Given the description of an element on the screen output the (x, y) to click on. 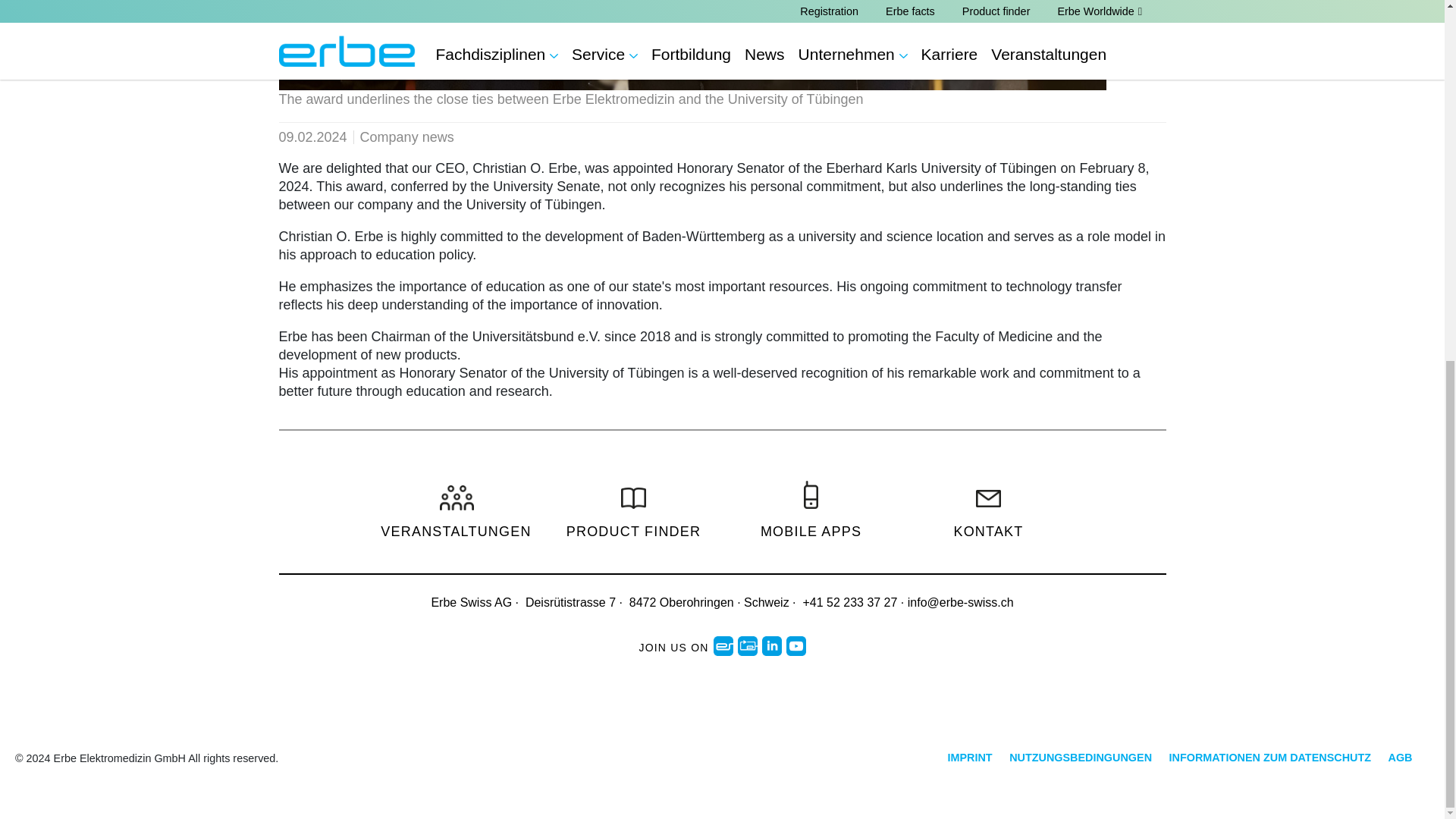
Opens internal link in current window (633, 508)
Opens internal link in current window (455, 508)
